Given the description of an element on the screen output the (x, y) to click on. 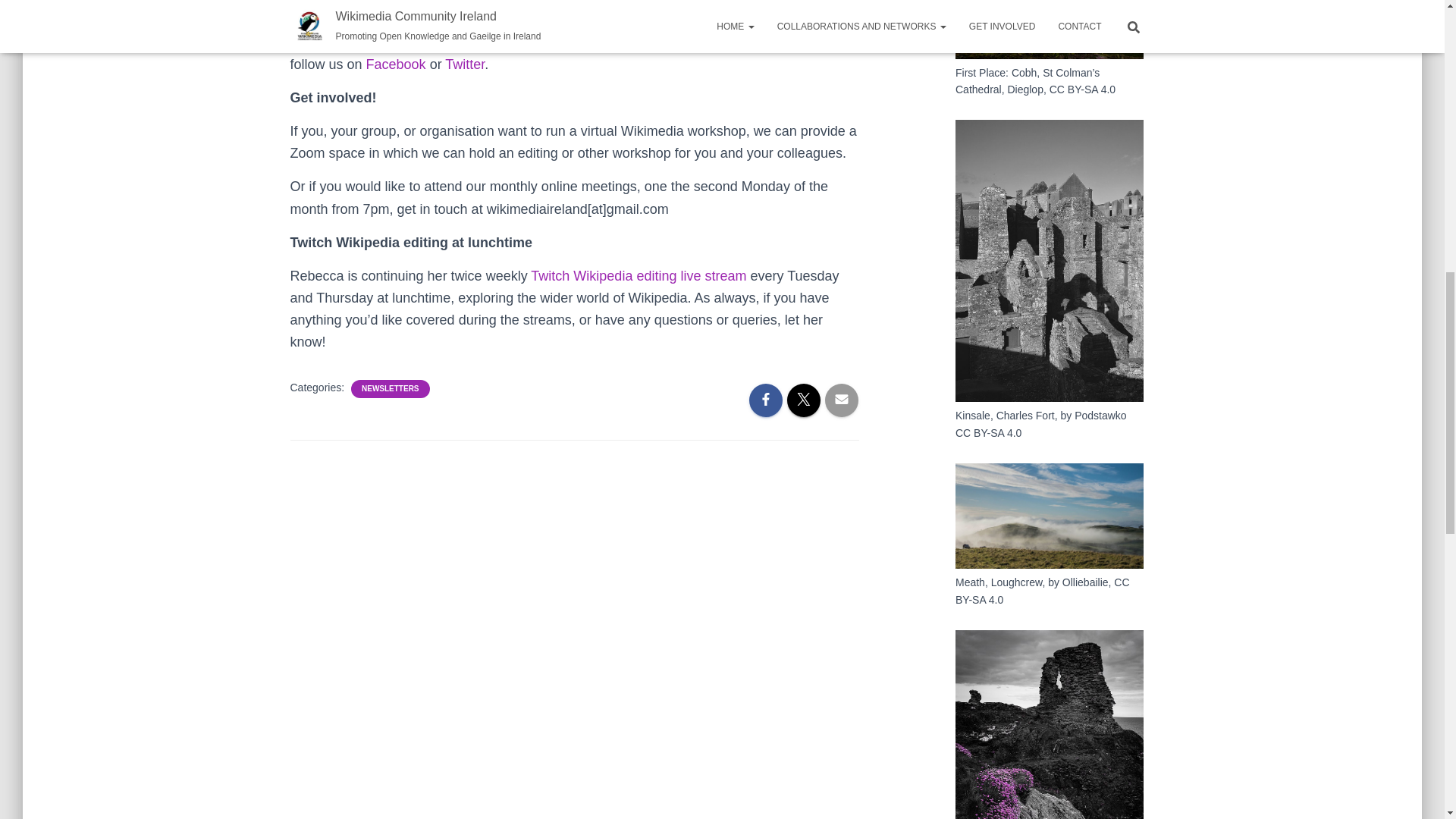
NEWSLETTERS (389, 388)
Facebook (396, 64)
Twitter (464, 64)
TOG Meetup page (777, 42)
Twitch Wikipedia editing live stream (638, 275)
